Given the description of an element on the screen output the (x, y) to click on. 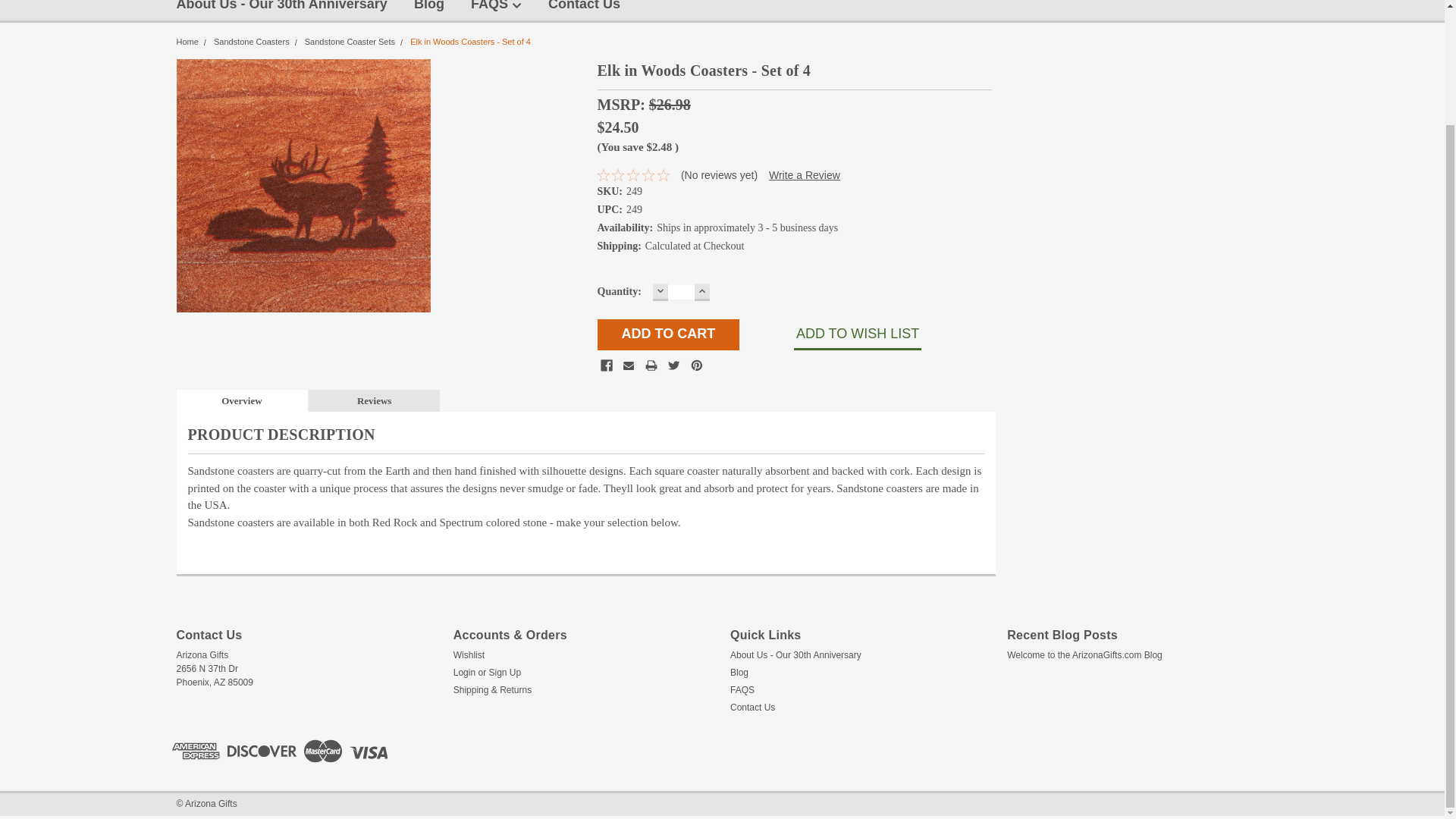
1 (681, 292)
Add to Cart (667, 334)
Elk in Woods Coasters - Set of 4 (302, 185)
